Given the description of an element on the screen output the (x, y) to click on. 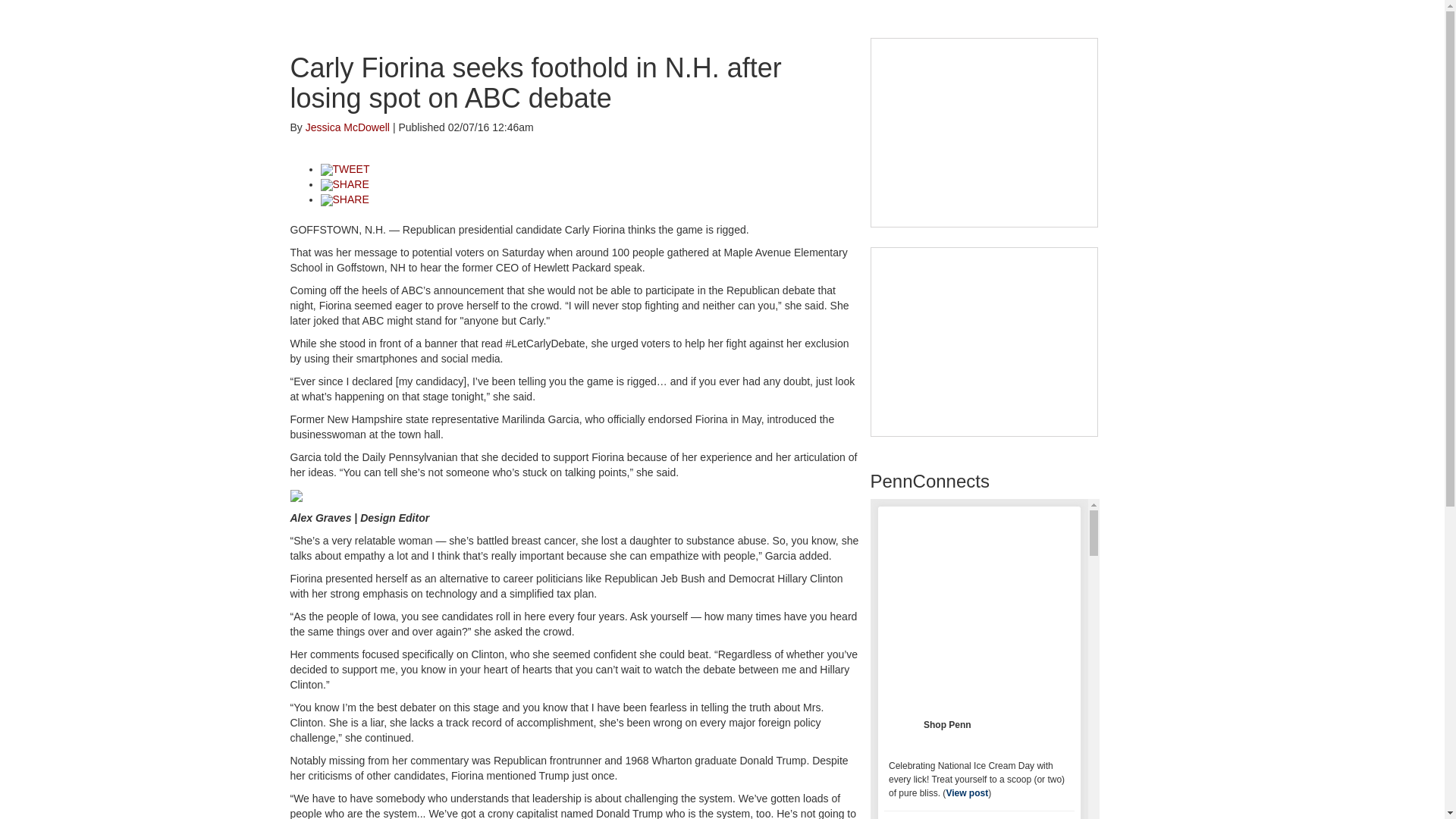
SHARE (344, 199)
SHARE (344, 184)
TWEET (344, 168)
Jessica McDowell (347, 127)
